Given the description of an element on the screen output the (x, y) to click on. 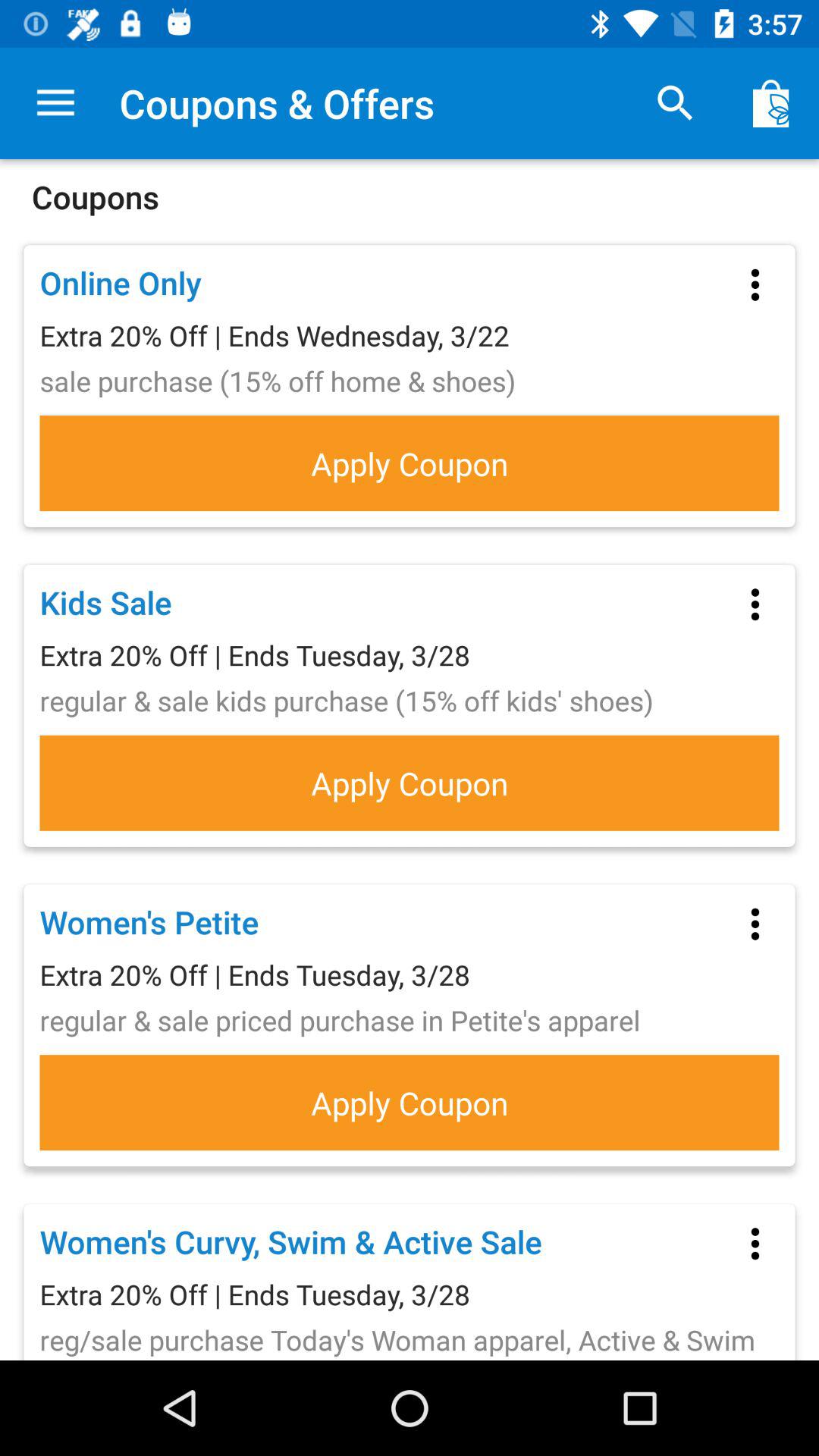
press the item at the top left corner (55, 103)
